Given the description of an element on the screen output the (x, y) to click on. 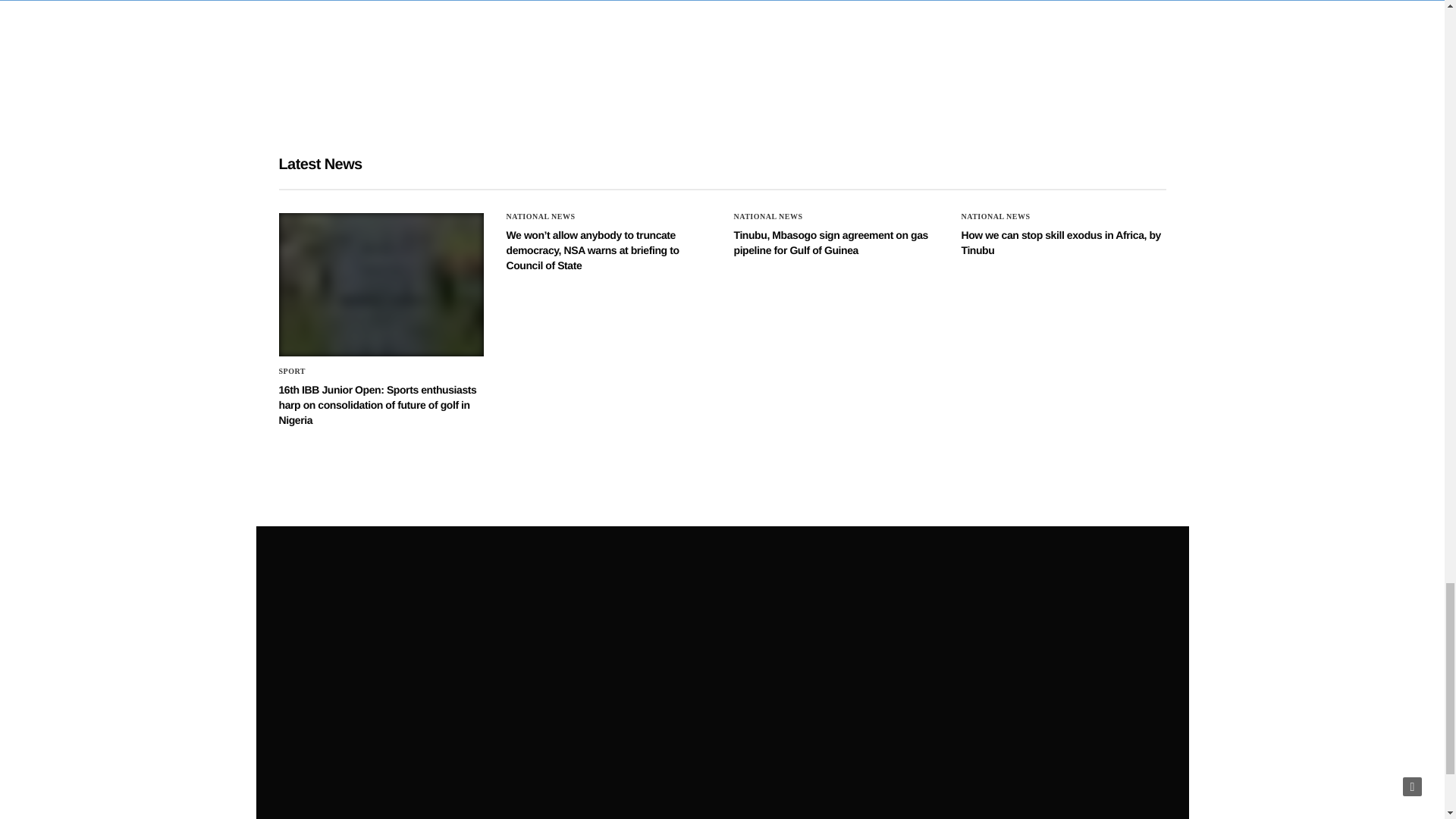
National News (995, 216)
National News (540, 216)
National News (768, 216)
SPORT (292, 371)
How we can stop skill exodus in Africa, by Tinubu (1060, 242)
